Given the description of an element on the screen output the (x, y) to click on. 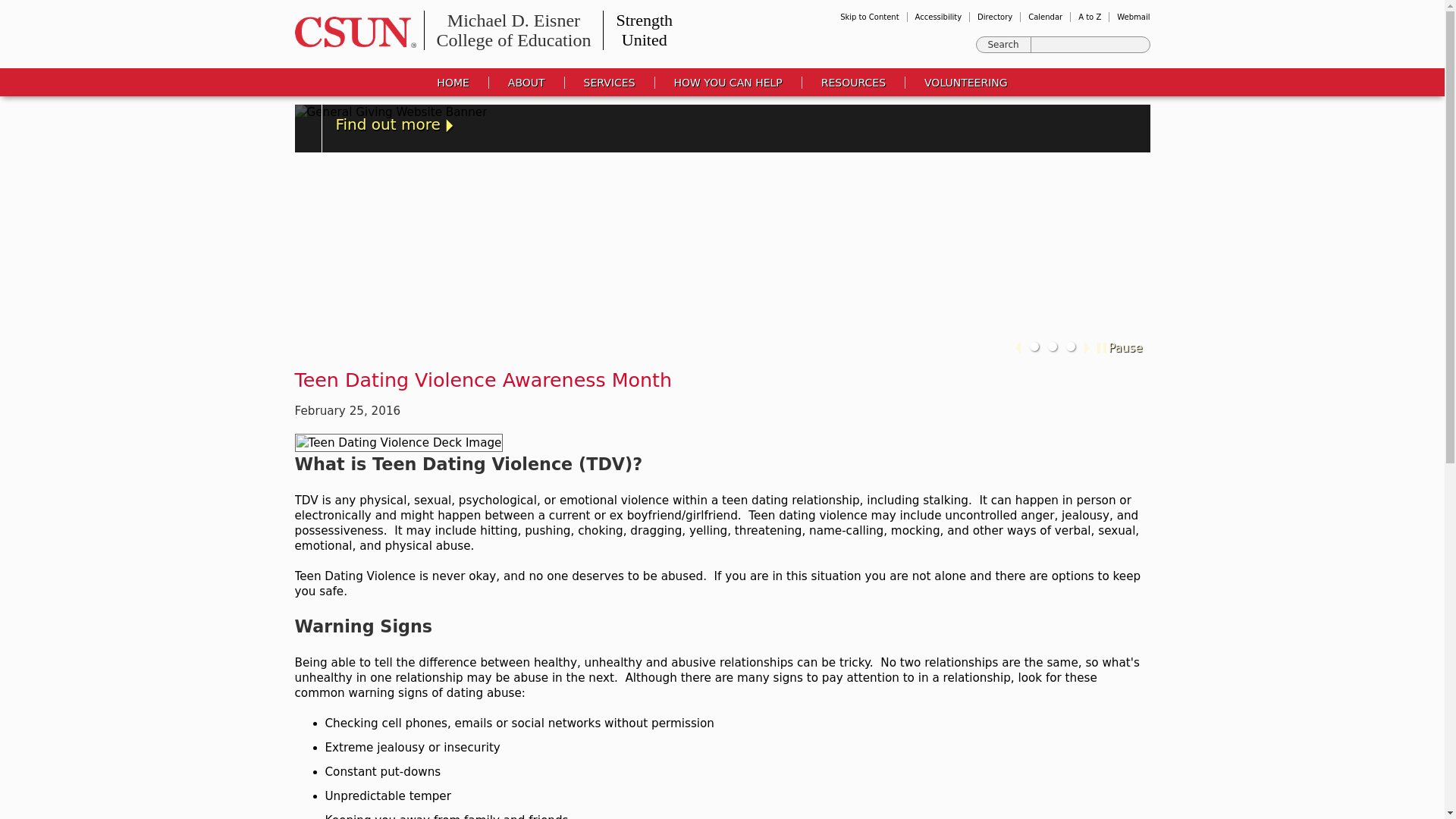
Search (513, 29)
California State University, Northridge - Home (1003, 44)
Directory (349, 31)
A to Z (993, 16)
Search (1089, 16)
Calendar (1003, 44)
ABOUT (1044, 16)
HOME (526, 81)
Accessibility (452, 81)
